Given the description of an element on the screen output the (x, y) to click on. 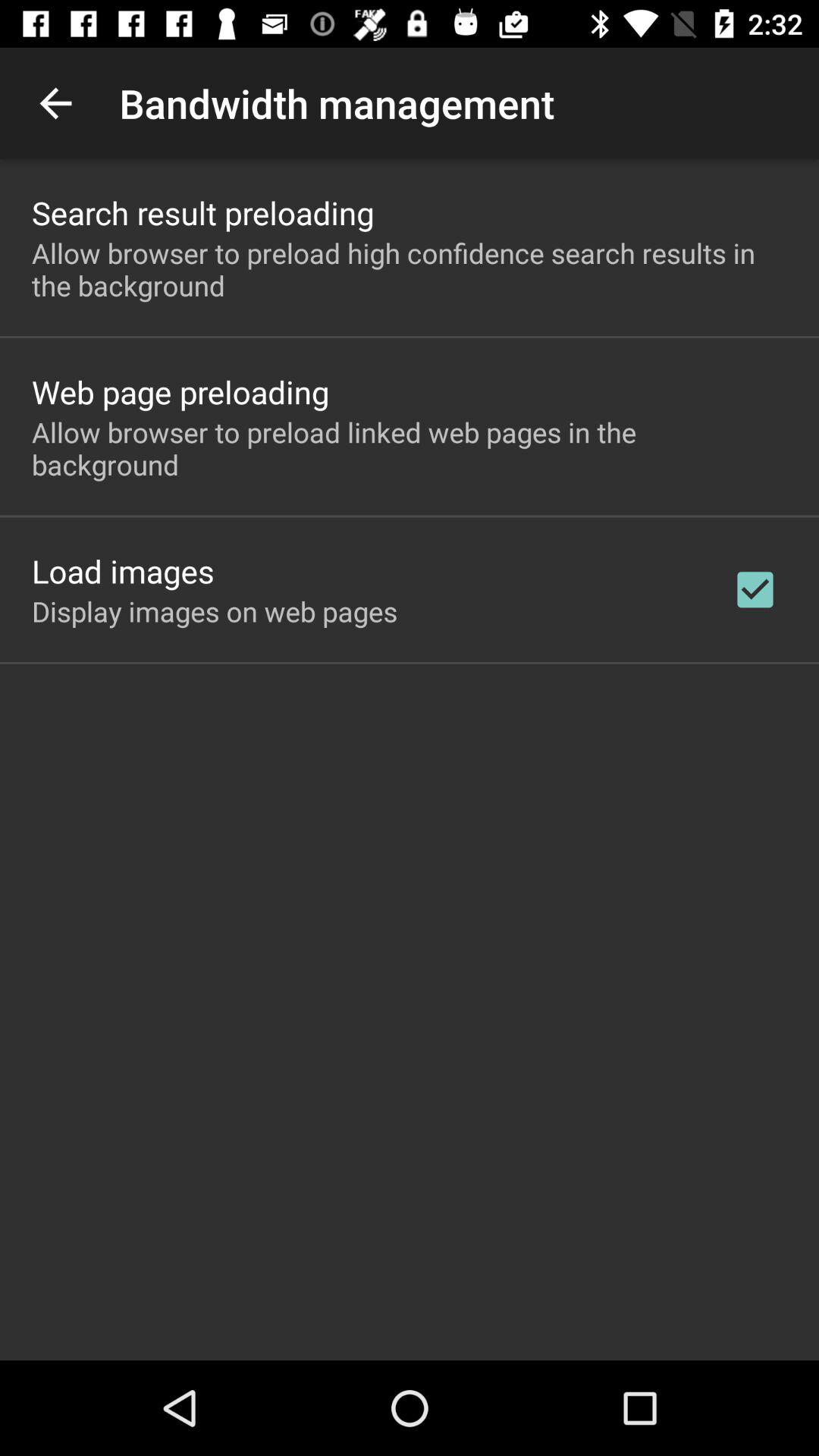
turn on the item on the right (755, 589)
